Given the description of an element on the screen output the (x, y) to click on. 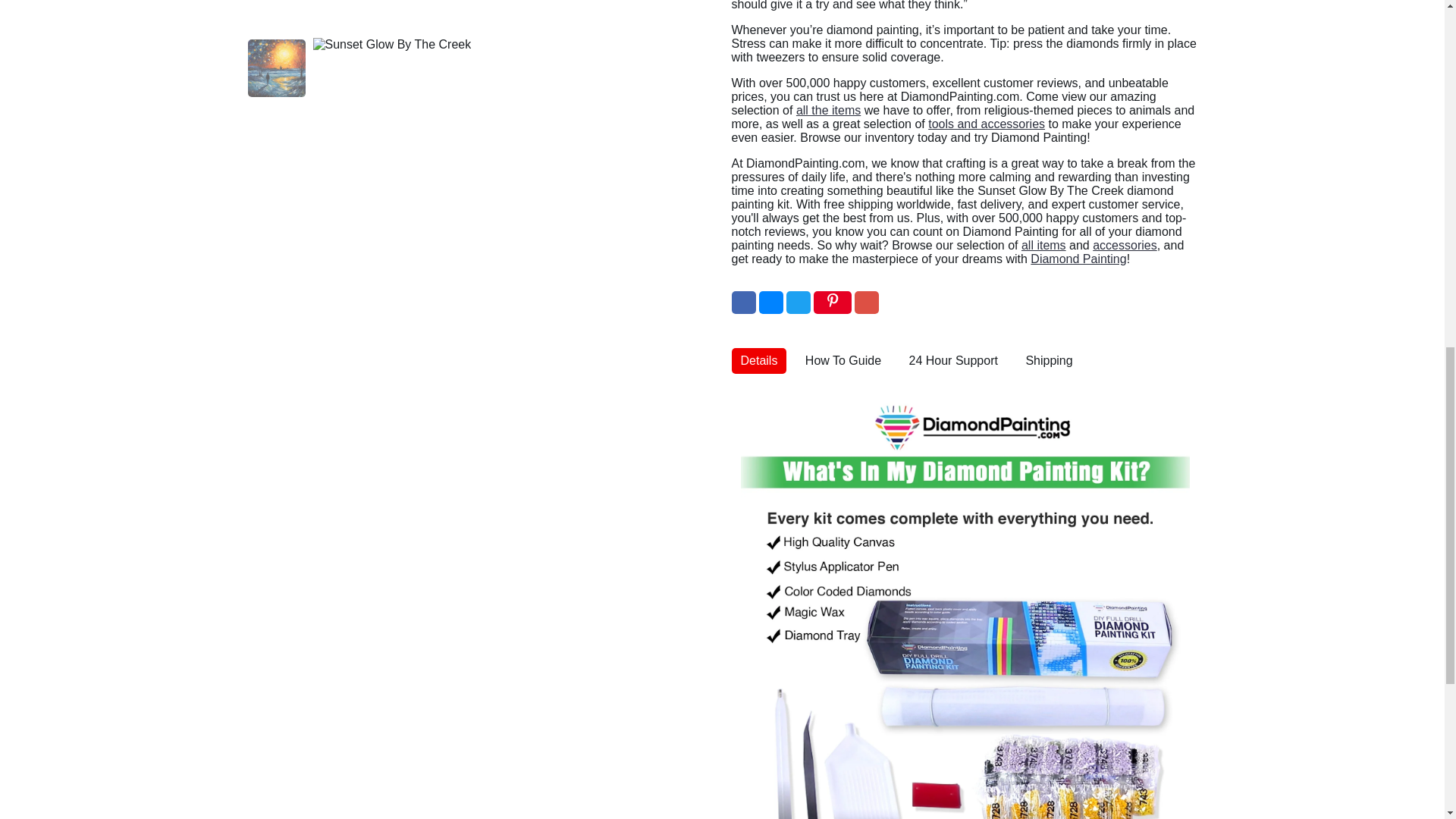
tools and accessories (986, 123)
Diamond Painting (1077, 258)
all the items (828, 110)
accessories (1124, 245)
all items (1043, 245)
